Given the description of an element on the screen output the (x, y) to click on. 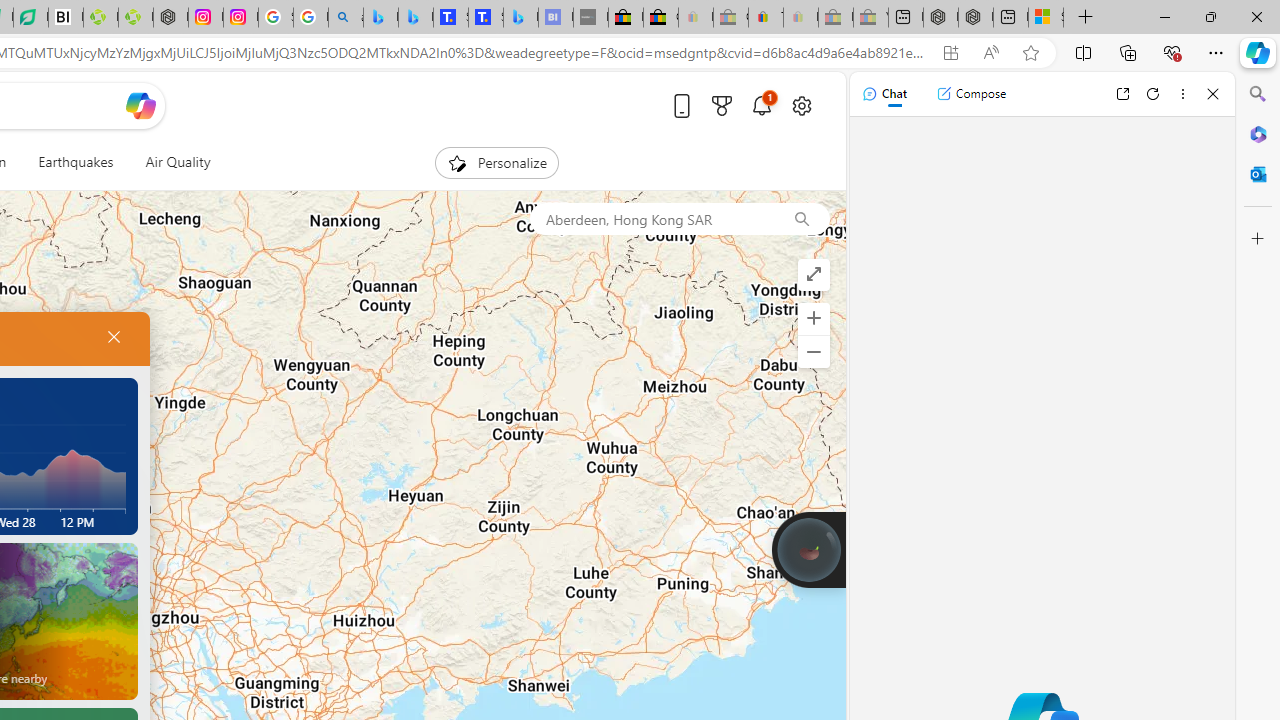
Nordace - Nordace Edin Collection (170, 17)
Join us in planting real trees to help our planet! (808, 548)
alabama high school quarterback dies - Search (346, 17)
Join us in planting real trees to help our planet! (808, 549)
Descarga Driver Updater (136, 17)
